Given the description of an element on the screen output the (x, y) to click on. 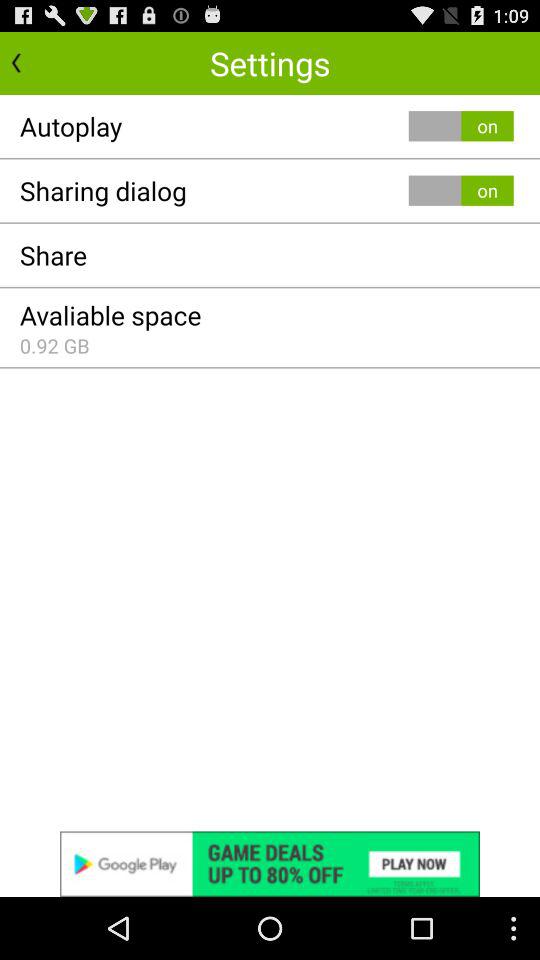
go back (36, 62)
